Given the description of an element on the screen output the (x, y) to click on. 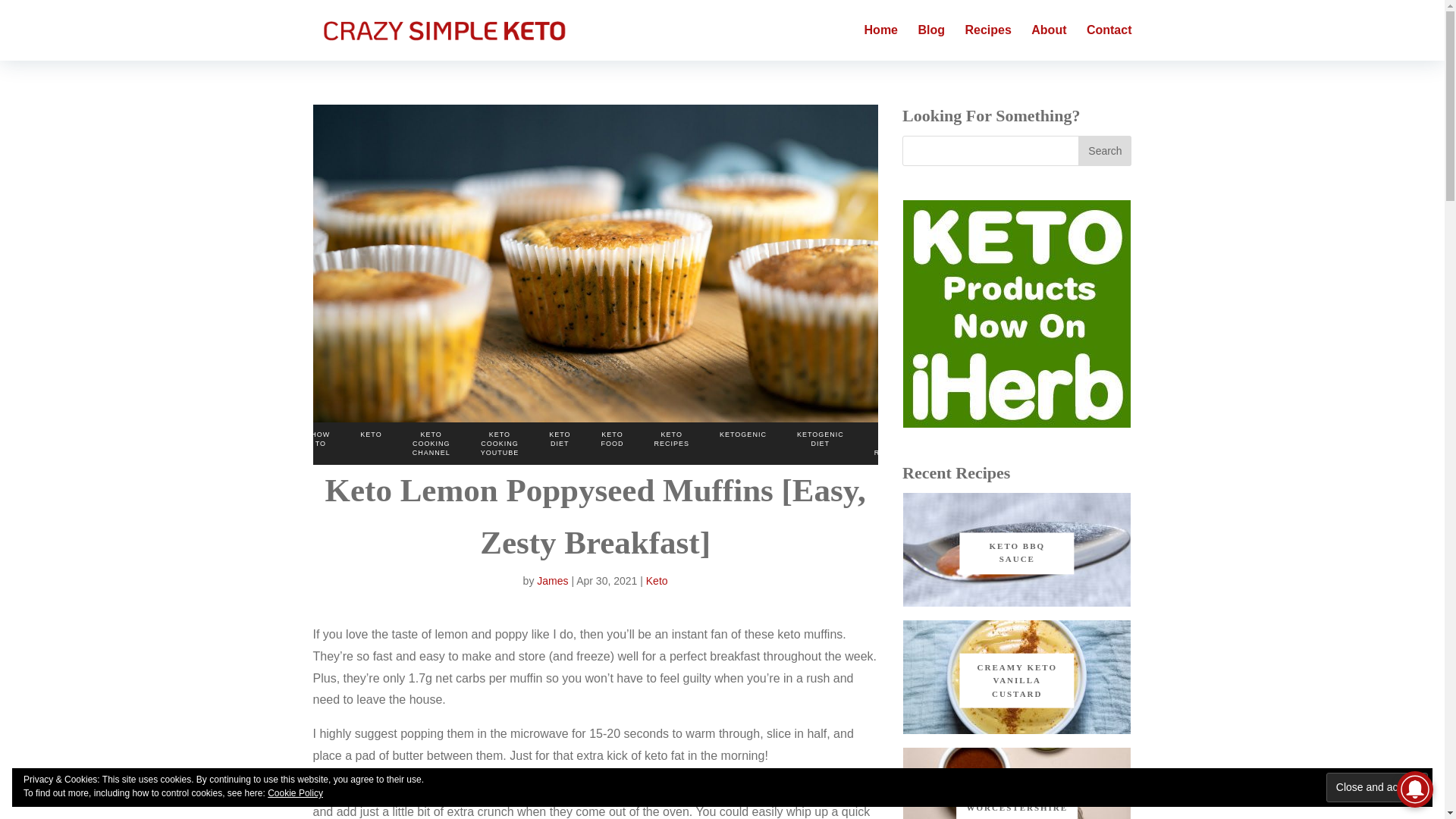
Search (1104, 150)
DIET (272, 434)
Recipes (986, 42)
KETOGENIC DIET (820, 438)
KETO COOKING YOUTUBE (499, 443)
Home (881, 42)
KETOGENIC (742, 434)
Keto (657, 580)
HOW TO (320, 438)
LAZY KETO RECIPES (891, 443)
Contact (1109, 42)
KETO COOKING CHANNEL (431, 443)
LOW CARB (950, 438)
About (1047, 42)
ATKINS (38, 434)
